Given the description of an element on the screen output the (x, y) to click on. 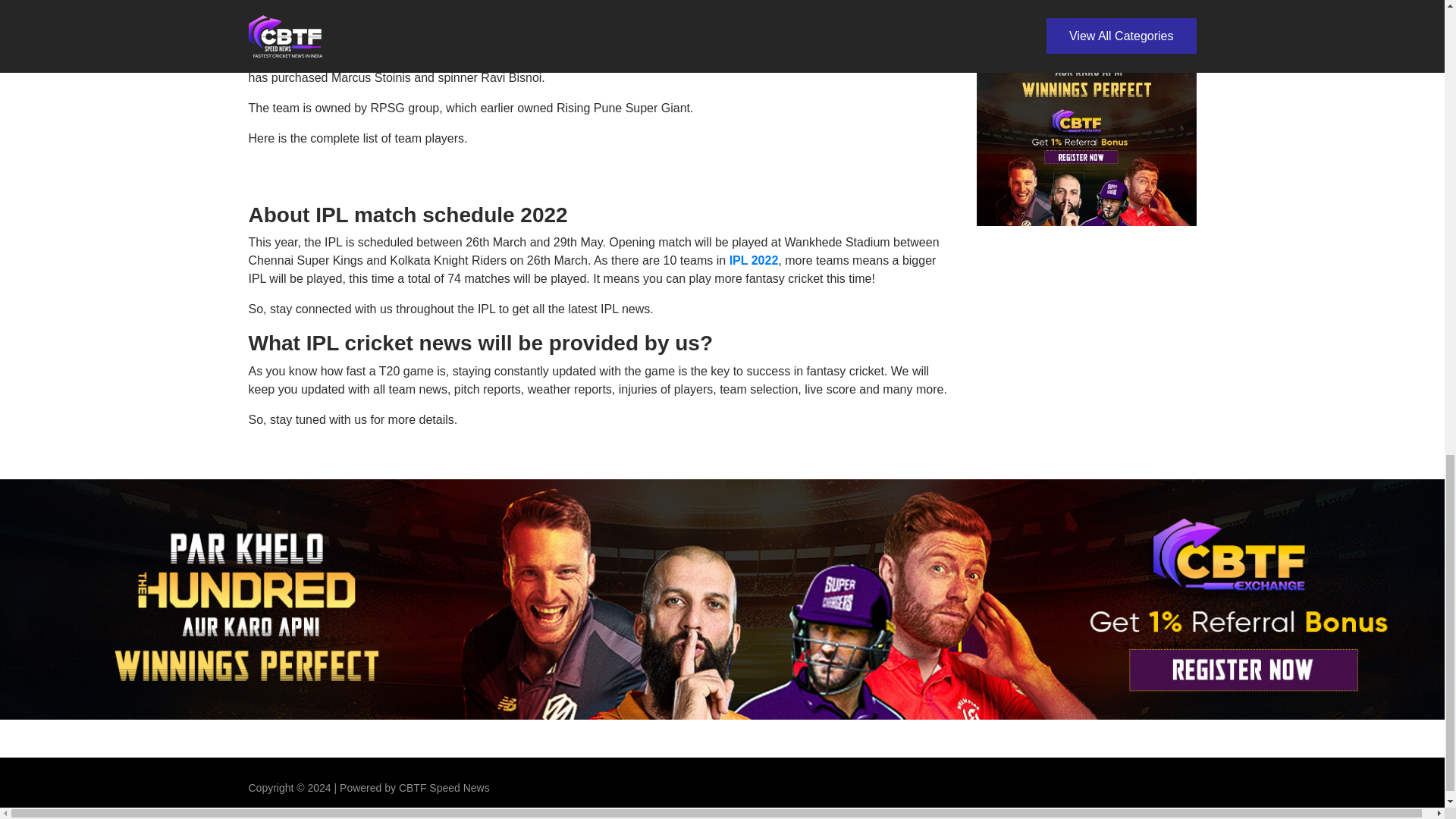
IPL 2022 (753, 259)
